Given the description of an element on the screen output the (x, y) to click on. 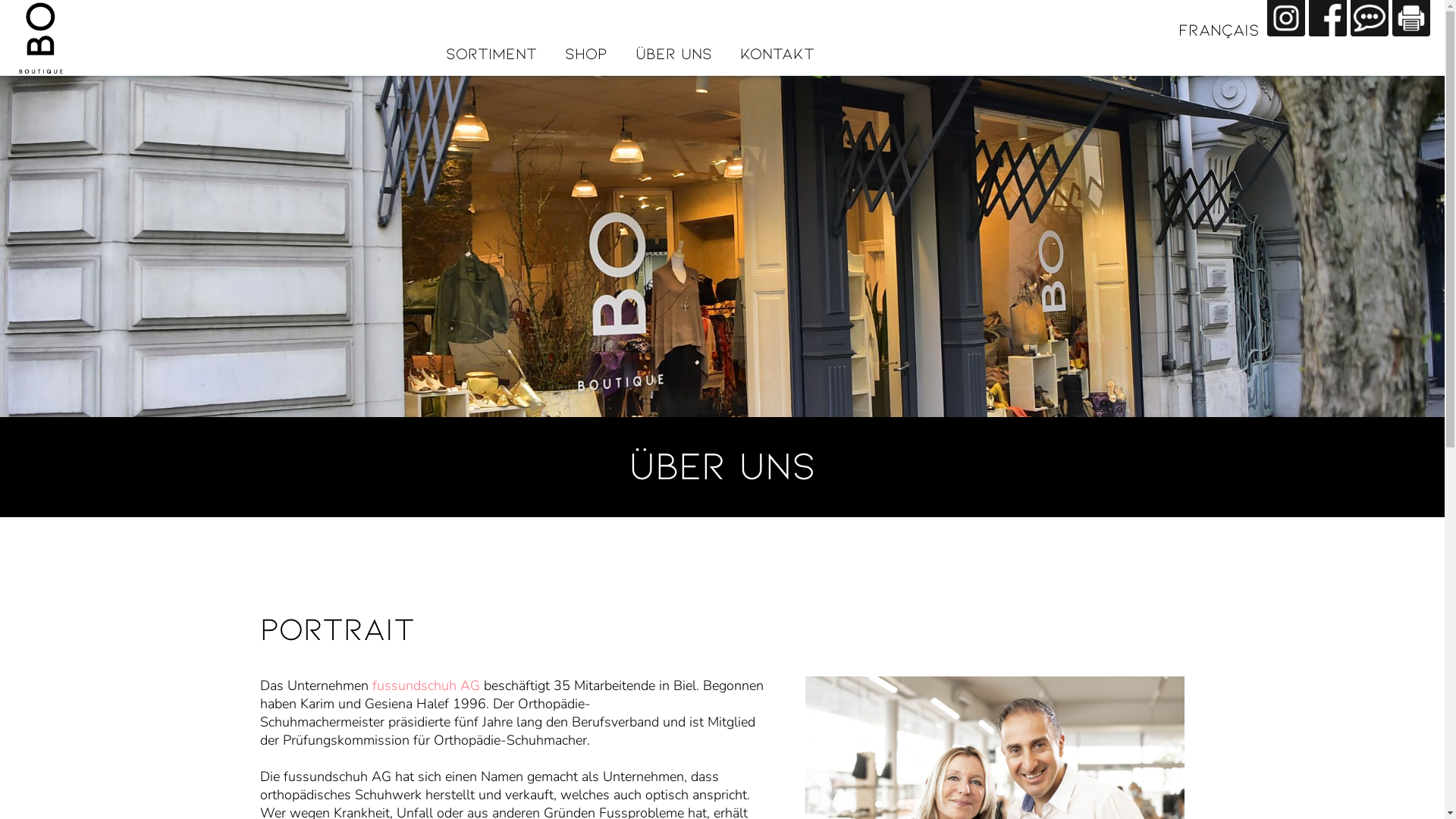
Willst du unsere Website mit deinen Bekannten teilen? Element type: hover (1369, 18)
Find us on Facebook Element type: hover (1327, 18)
Follow us on Instagram Element type: hover (1286, 18)
Seite ausdrucken Element type: hover (1411, 18)
SORTIMENT Element type: text (491, 53)
SHOP Element type: text (585, 53)
KONTAKT Element type: text (777, 53)
fussundschuh AG Element type: text (426, 685)
